Given the description of an element on the screen output the (x, y) to click on. 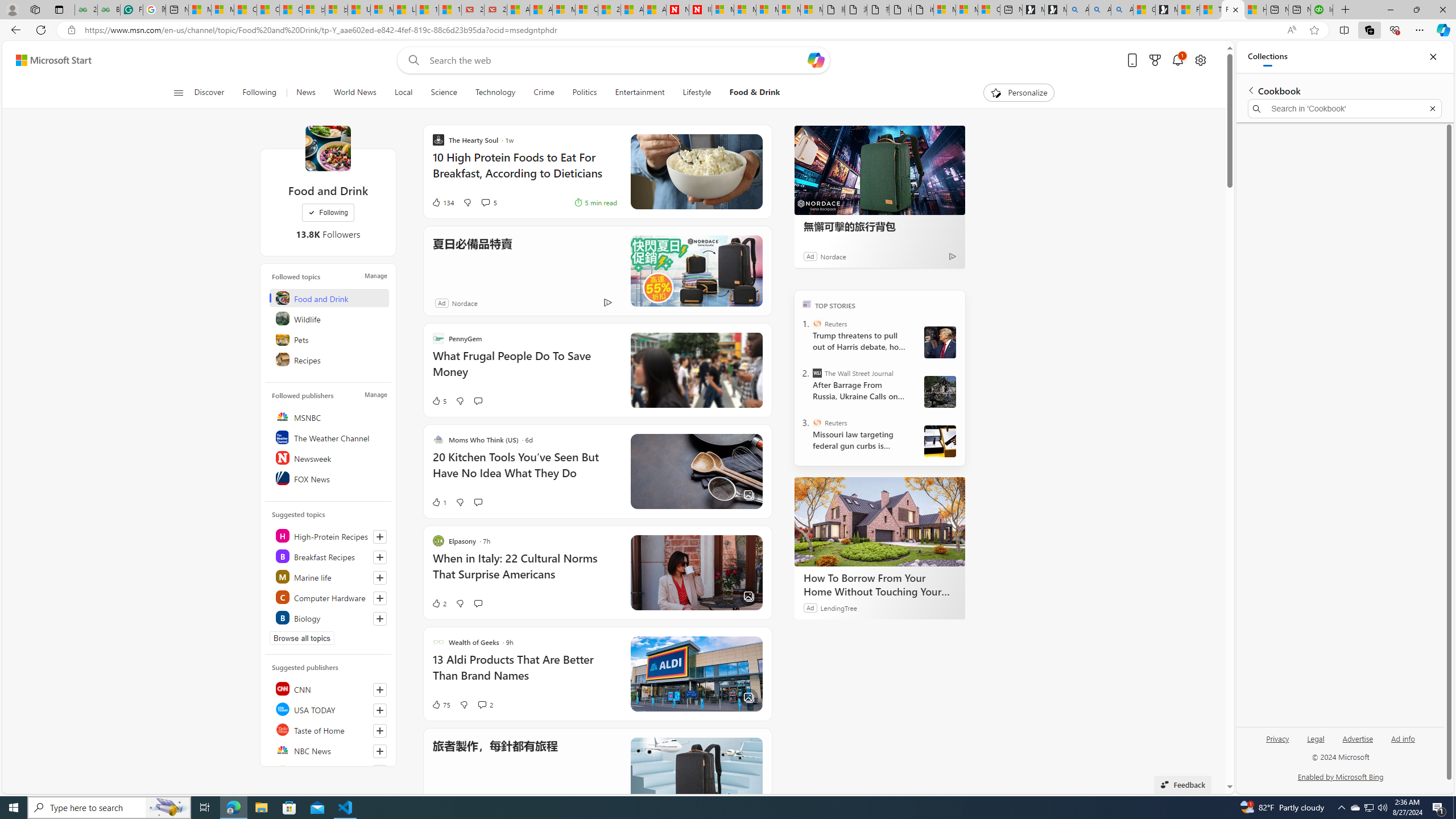
Microsoft Start (53, 60)
20 Ways to Boost Your Protein Intake at Every Meal (609, 9)
Start the conversation (478, 602)
